Given the description of an element on the screen output the (x, y) to click on. 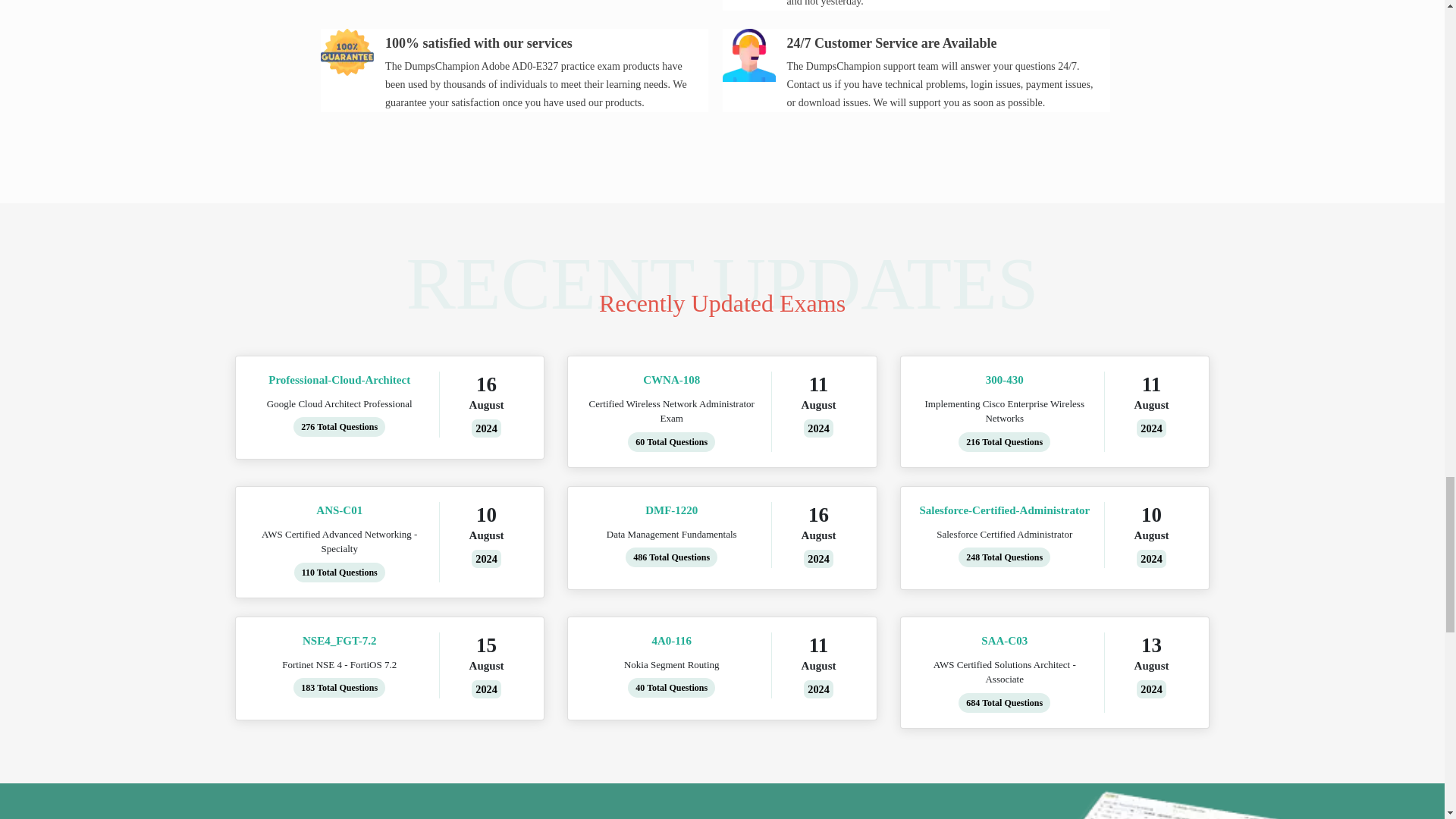
Professional-Cloud-Architect (338, 380)
DMF-1220 (671, 510)
Salesforce-Certified-Administrator (1004, 510)
SAA-C03 (1004, 641)
300-430 (1004, 380)
4A0-116 (671, 641)
CWNA-108 (671, 380)
ANS-C01 (338, 510)
